Given the description of an element on the screen output the (x, y) to click on. 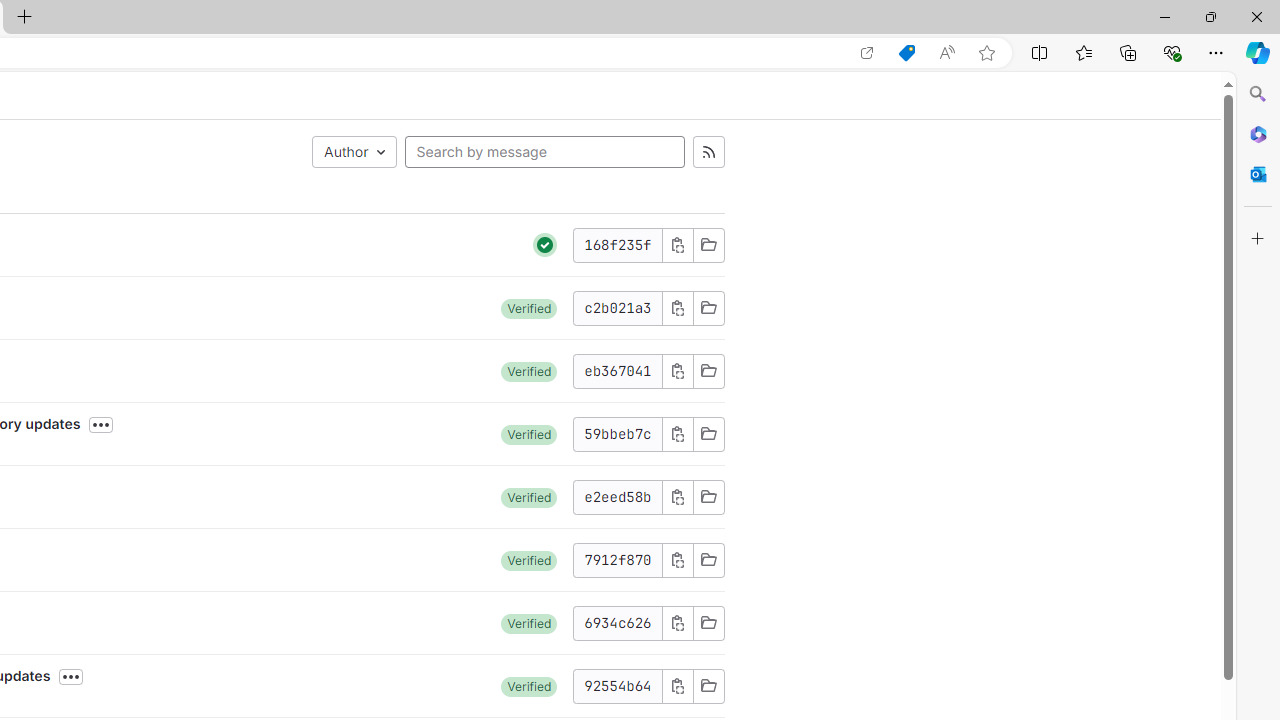
Open in app (867, 53)
Commits feed (708, 151)
Toggle commit description (71, 677)
Copy commit SHA (676, 686)
Class: s24 gl-icon (545, 244)
